Given the description of an element on the screen output the (x, y) to click on. 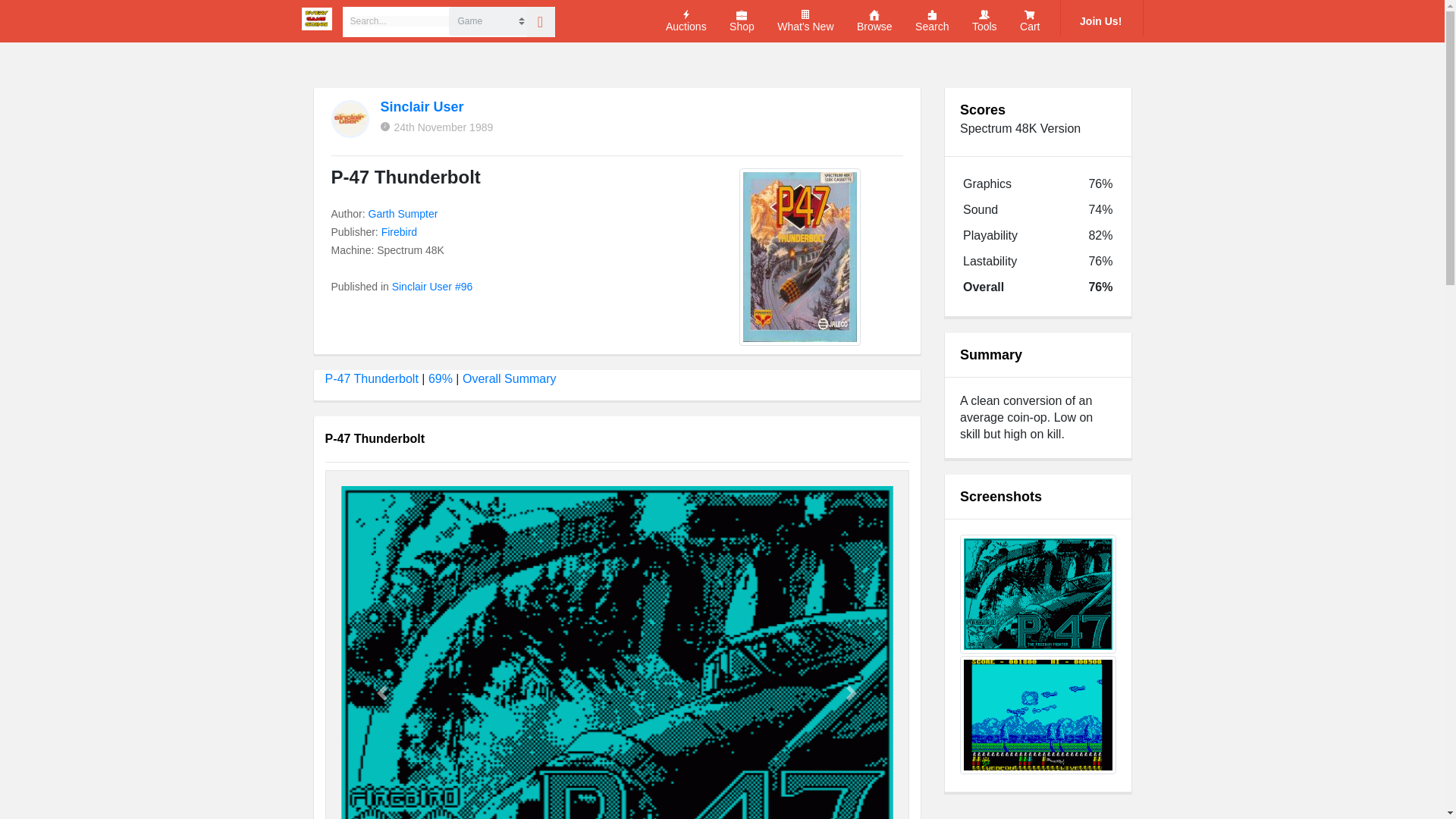
Auctions (685, 20)
Shop (741, 20)
What's New (804, 20)
Browse (874, 20)
Search (932, 20)
Tools (984, 20)
